Given the description of an element on the screen output the (x, y) to click on. 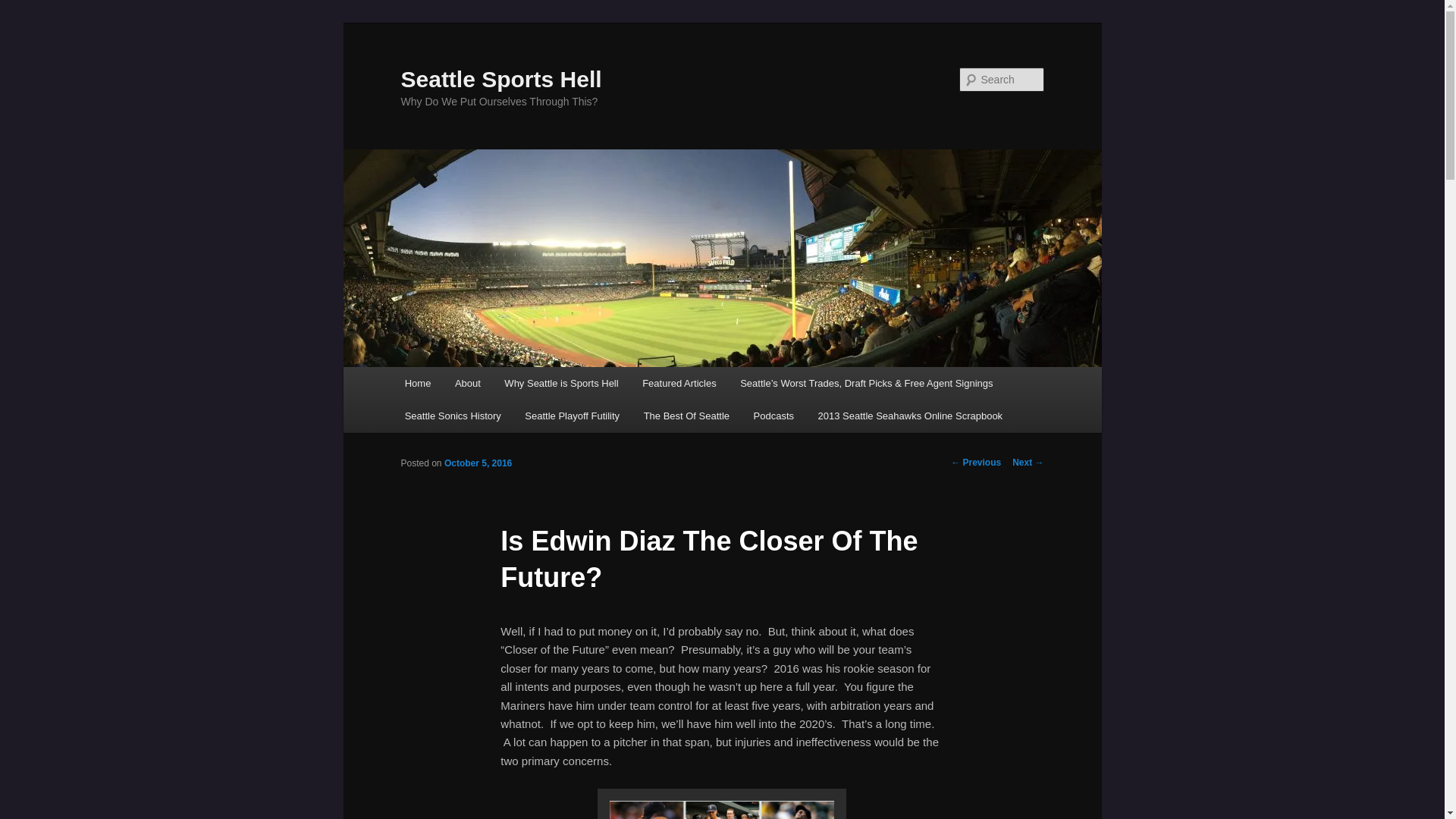
Featured Articles (679, 382)
Home (417, 382)
Seattle Playoff Futility (572, 415)
Search (24, 8)
Seattle Sonics History (453, 415)
Why Seattle is Sports Hell (561, 382)
6:00 am (478, 462)
About (467, 382)
Seattle Sports Hell (500, 78)
